Given the description of an element on the screen output the (x, y) to click on. 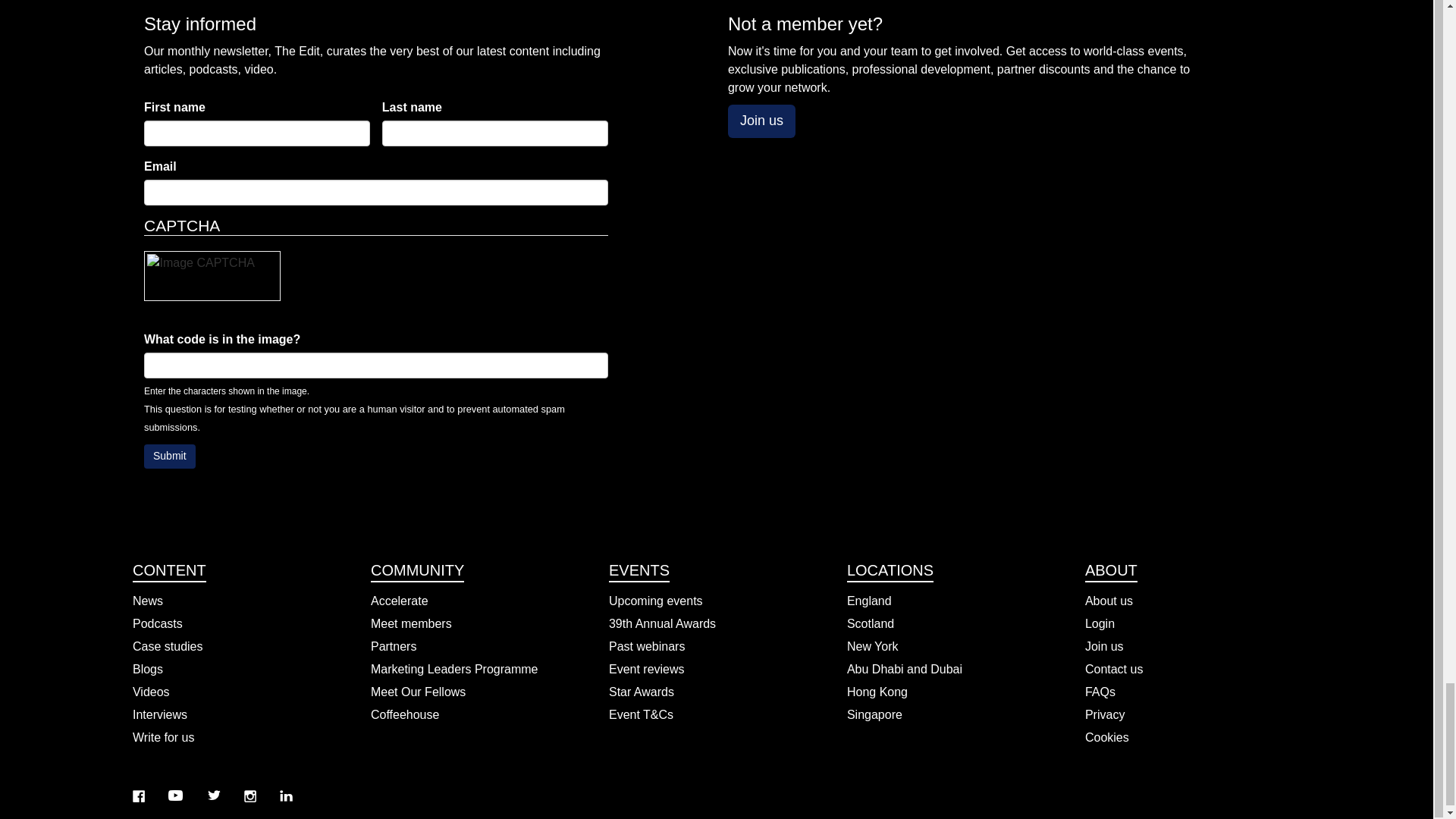
Interviews with event speakers, judges, special guests (239, 714)
blogs, articles, opinion pieces (239, 669)
Virtual and live Society events and interviews (239, 691)
Our professional development suite (478, 600)
Our global and local partners round the world (478, 646)
Image CAPTCHA (212, 275)
Generate new CAPTCHA image (212, 310)
Members reviewing Society and industry events (716, 669)
Winning and commended papers from our Awards (239, 646)
Watch past webinars again (716, 646)
Marketing Society bi-monthly publication (239, 600)
Short interviews with new members (478, 623)
Society and partner pods from our global network (239, 623)
